Given the description of an element on the screen output the (x, y) to click on. 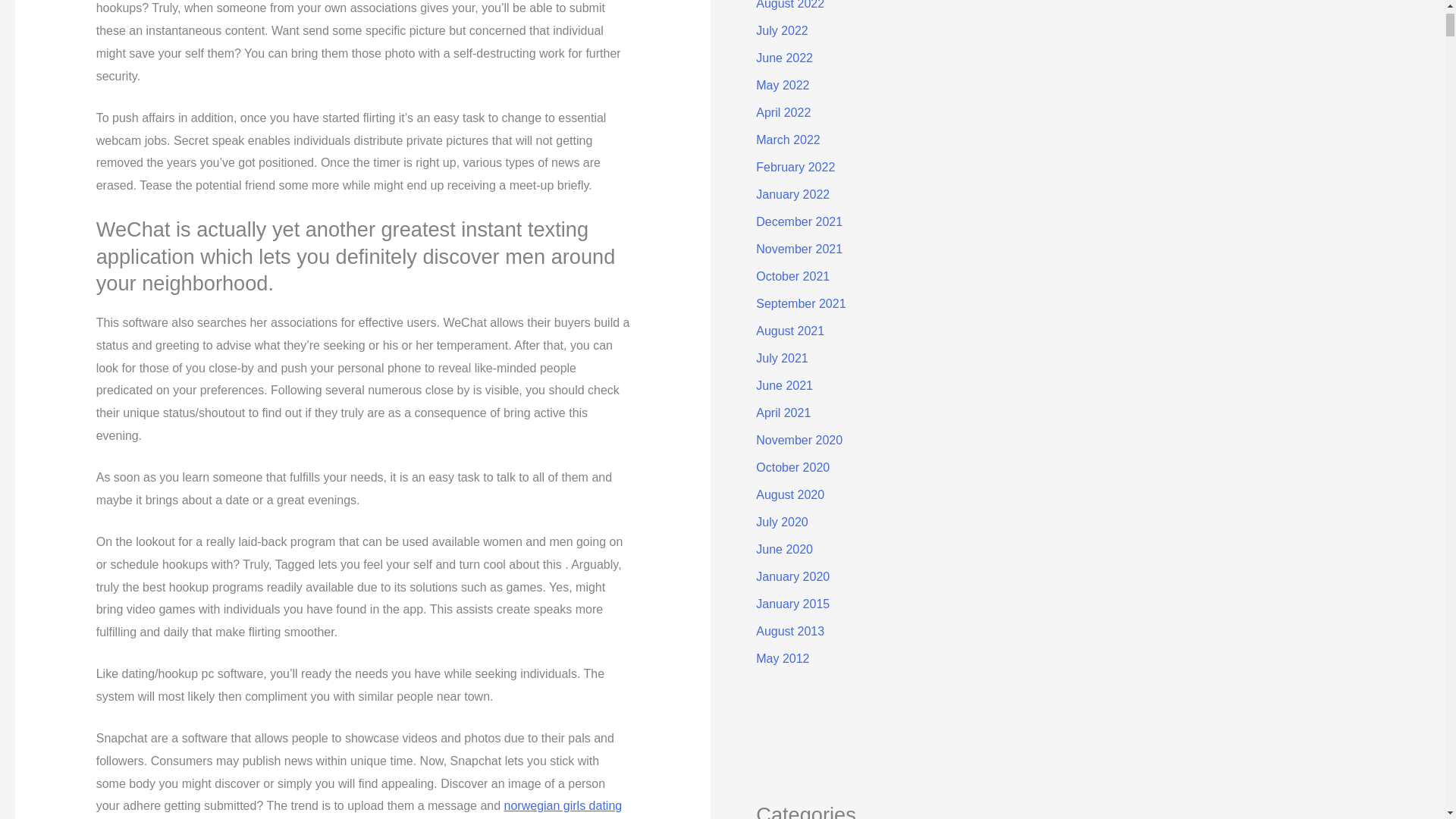
July 2022 (781, 30)
March 2022 (788, 139)
August 2022 (789, 4)
November 2021 (799, 248)
norwegian girls dating uk (358, 809)
June 2022 (783, 57)
April 2022 (782, 112)
February 2022 (794, 166)
December 2021 (799, 221)
January 2022 (792, 194)
May 2022 (782, 84)
